Given the description of an element on the screen output the (x, y) to click on. 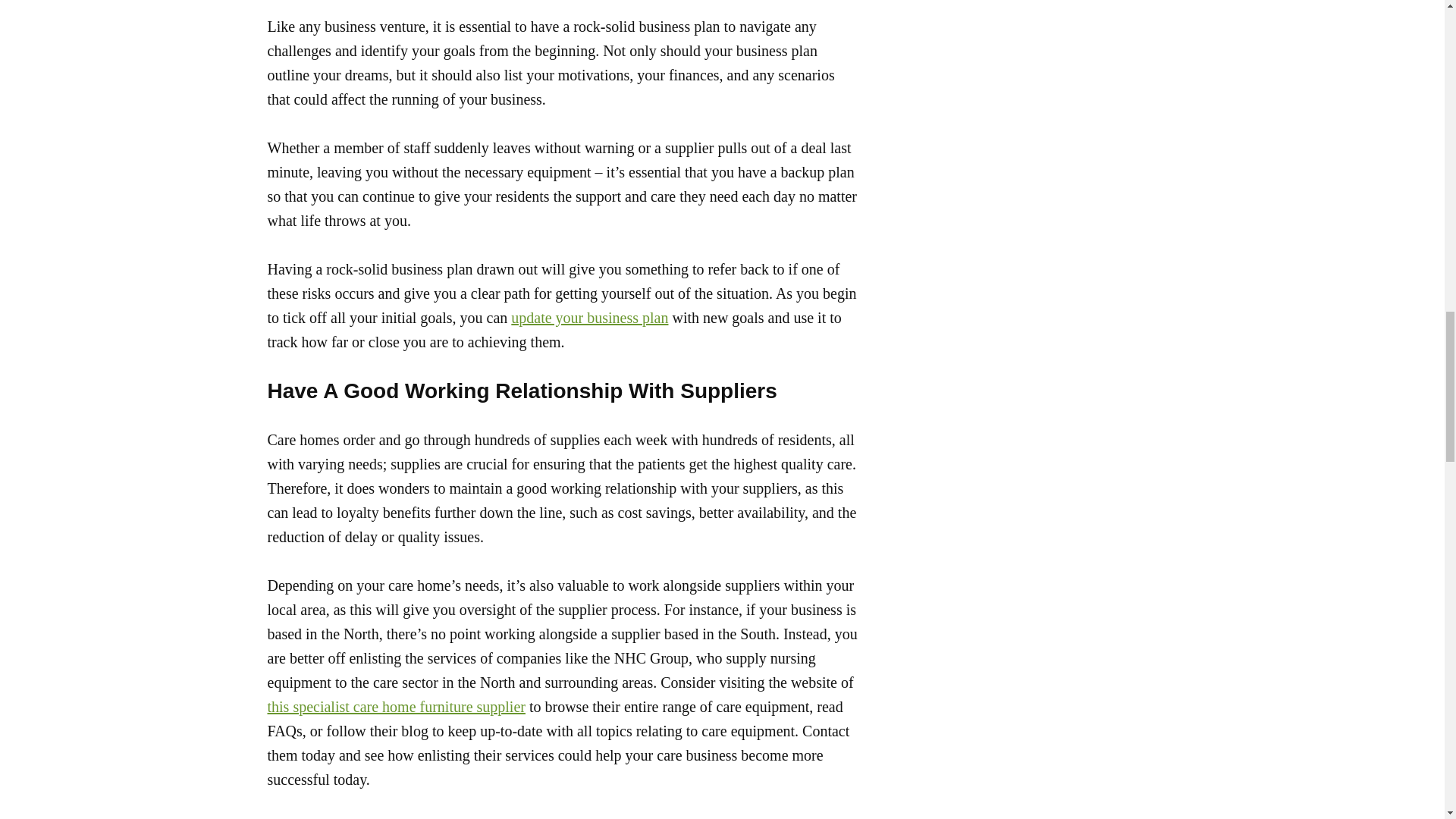
update your business plan (589, 317)
this specialist care home furniture supplier (395, 706)
